Given the description of an element on the screen output the (x, y) to click on. 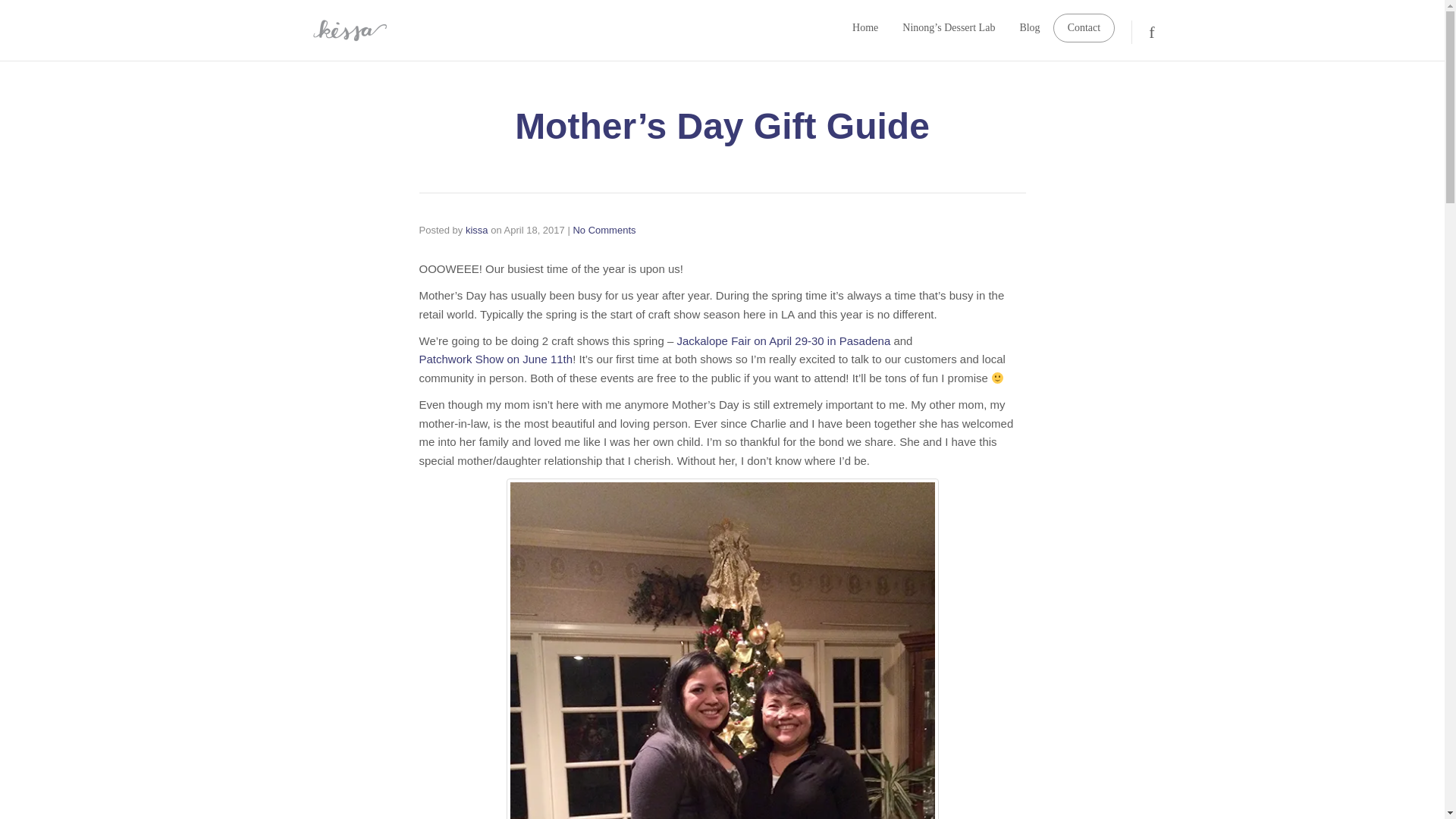
Contact (1083, 28)
Posts by kissa (476, 229)
Jackalope Fair on April 29-30 in Pasadena (783, 340)
kissa (476, 229)
No Comments (603, 229)
Patchwork Show on June 11th (495, 358)
